Given the description of an element on the screen output the (x, y) to click on. 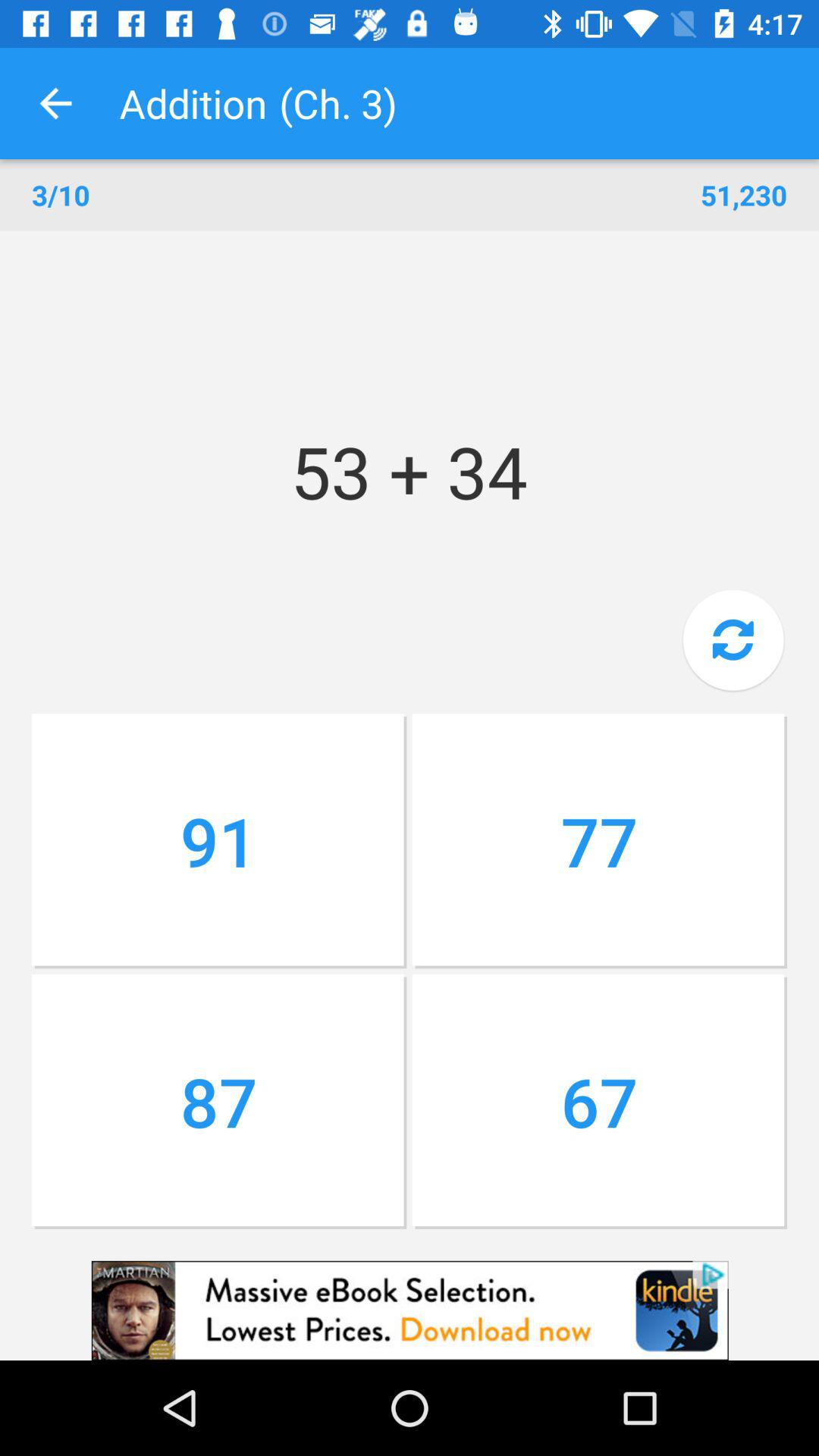
advertisement link (409, 1310)
